Given the description of an element on the screen output the (x, y) to click on. 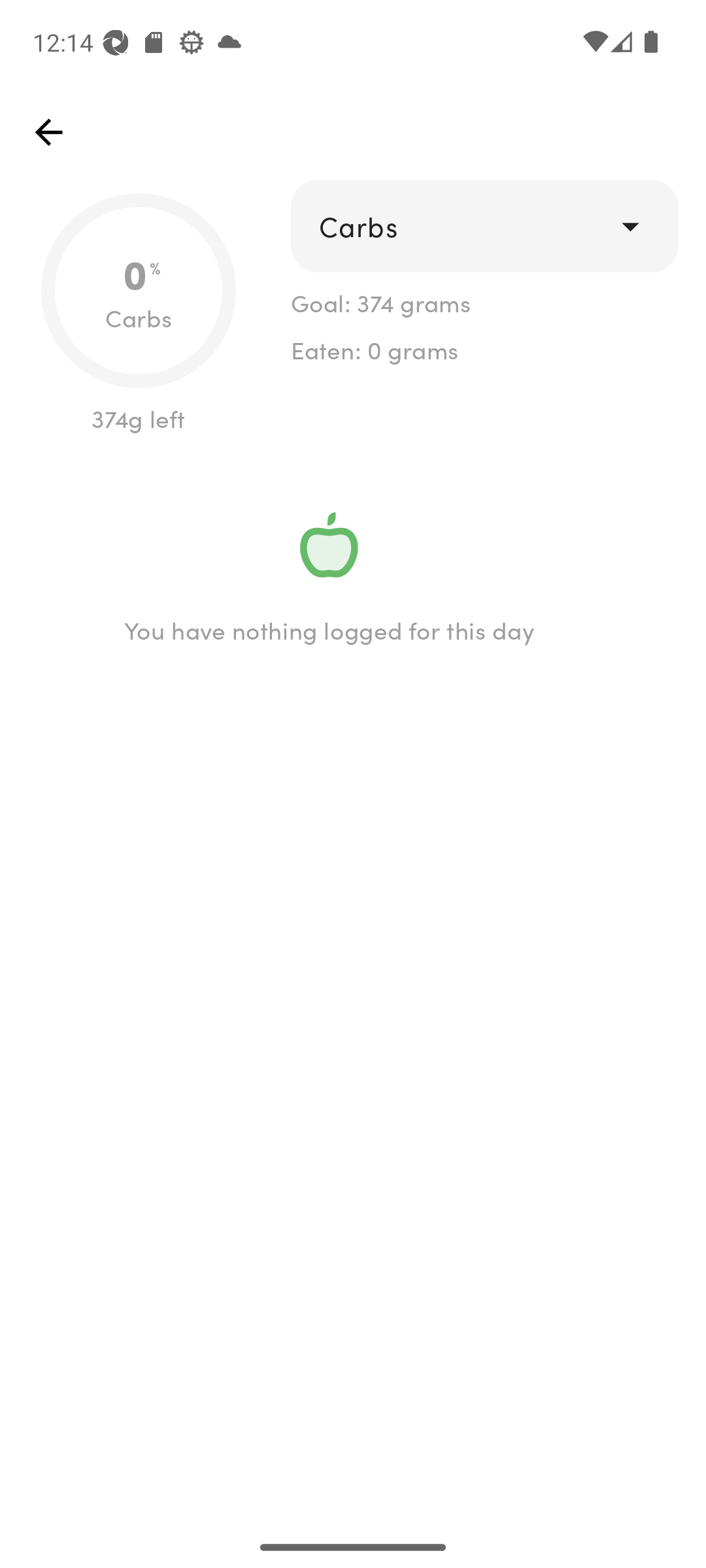
top_left_action (48, 132)
drop_down Carbs (484, 226)
